Given the description of an element on the screen output the (x, y) to click on. 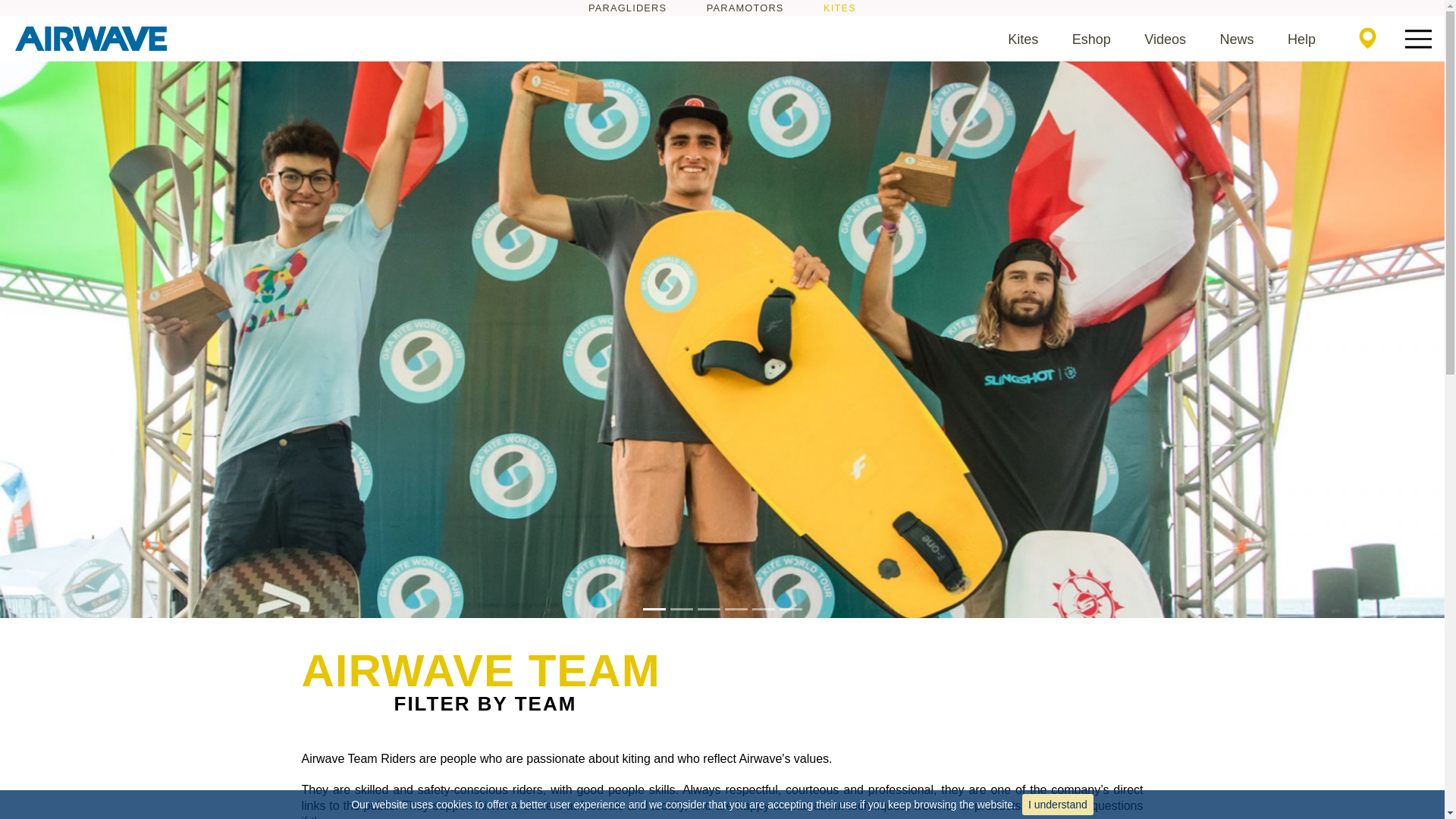
News (1236, 38)
Videos (1165, 38)
Kites (1022, 38)
Help (1301, 38)
BGD Paramotors (745, 7)
I understand (1057, 803)
BGD Paragliders (627, 7)
Airwave Kiteboarding (840, 7)
Kites (1022, 38)
Distributors (1366, 37)
